Given the description of an element on the screen output the (x, y) to click on. 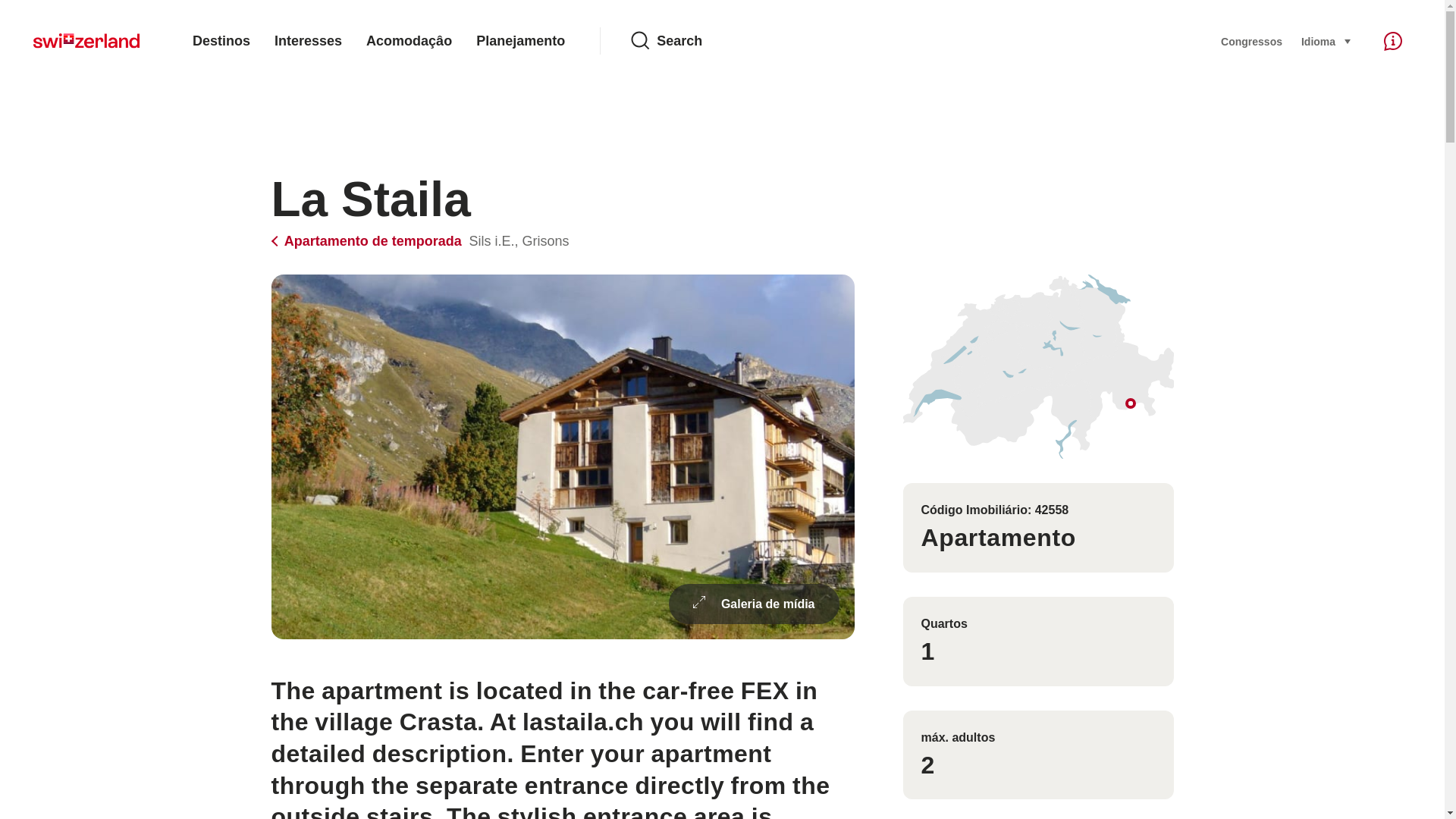
Planejamento (520, 41)
Interesses (307, 41)
Destinos (221, 41)
Search (913, 41)
Congressos (1251, 40)
Show on map (1037, 366)
MySwitzerland (86, 41)
